Given the description of an element on the screen output the (x, y) to click on. 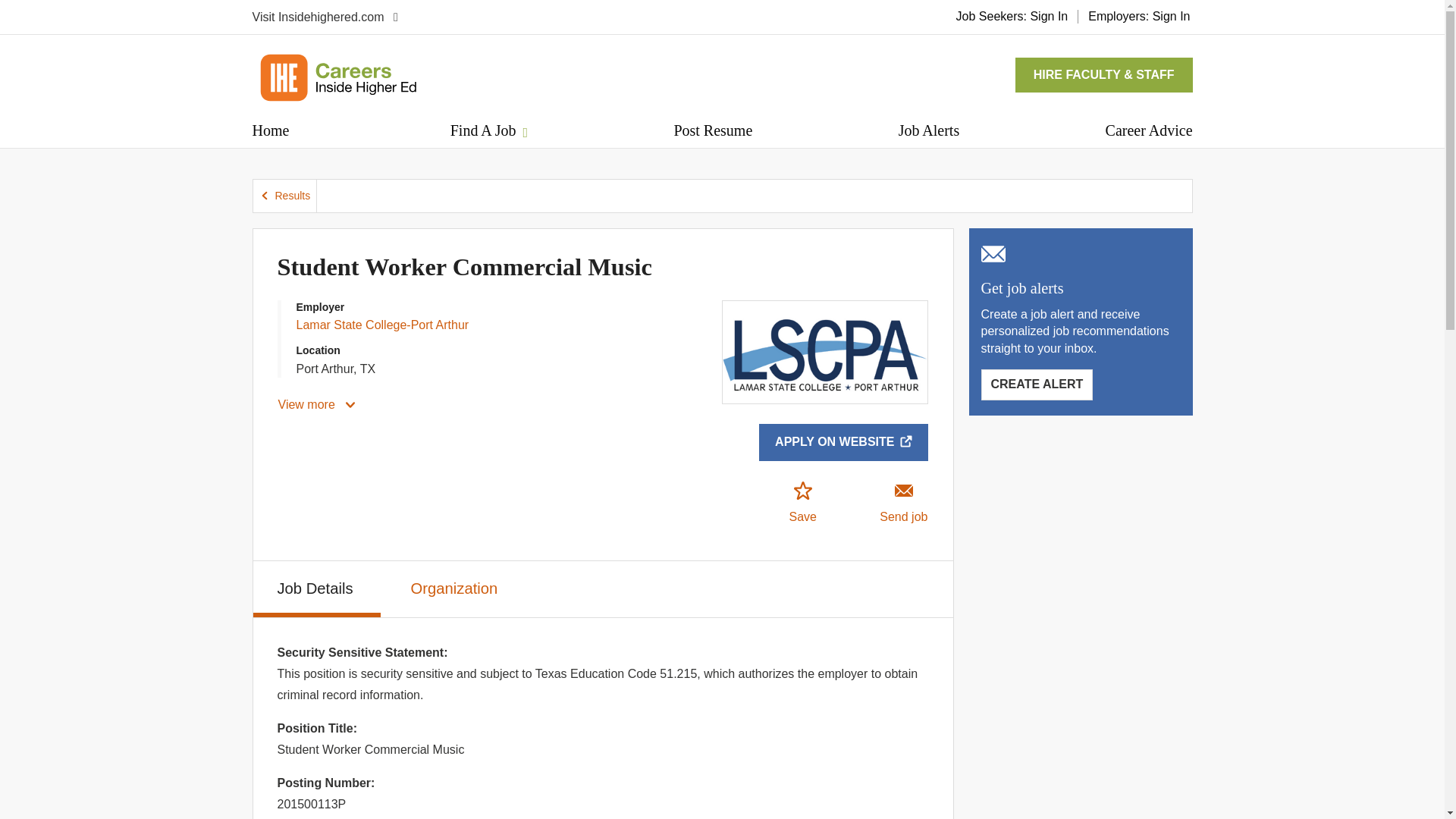
Job Alerts (928, 130)
Career Advice (1148, 130)
CREATE ALERT (1037, 384)
Home (269, 130)
Organization (456, 586)
Job Details (316, 589)
Inside Higher Ed Careers (337, 76)
View more (318, 404)
Employers: Sign In (1139, 16)
Job Seekers: Sign In (1011, 16)
